Given the description of an element on the screen output the (x, y) to click on. 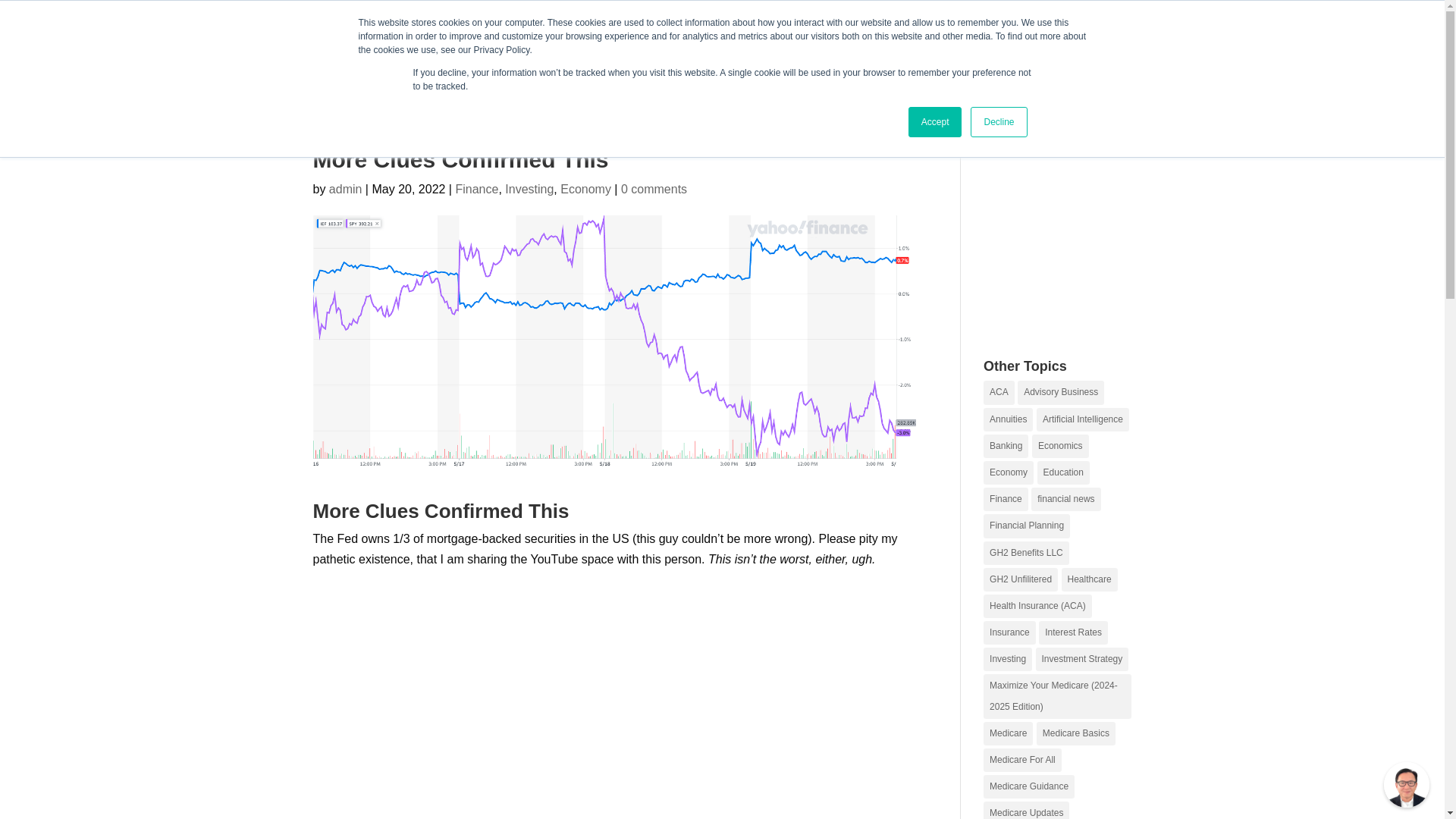
Follow on Instagram (1088, 15)
Follow on Twitter (1058, 15)
Decline (998, 122)
Follow on Youtube (1118, 15)
Education Center (645, 69)
Follow on Facebook (1028, 15)
Posts by admin (345, 188)
Accept (935, 122)
Financial Planning (858, 69)
Employee Benefits (983, 69)
Client Portal (1090, 69)
Insurance (750, 69)
